Given the description of an element on the screen output the (x, y) to click on. 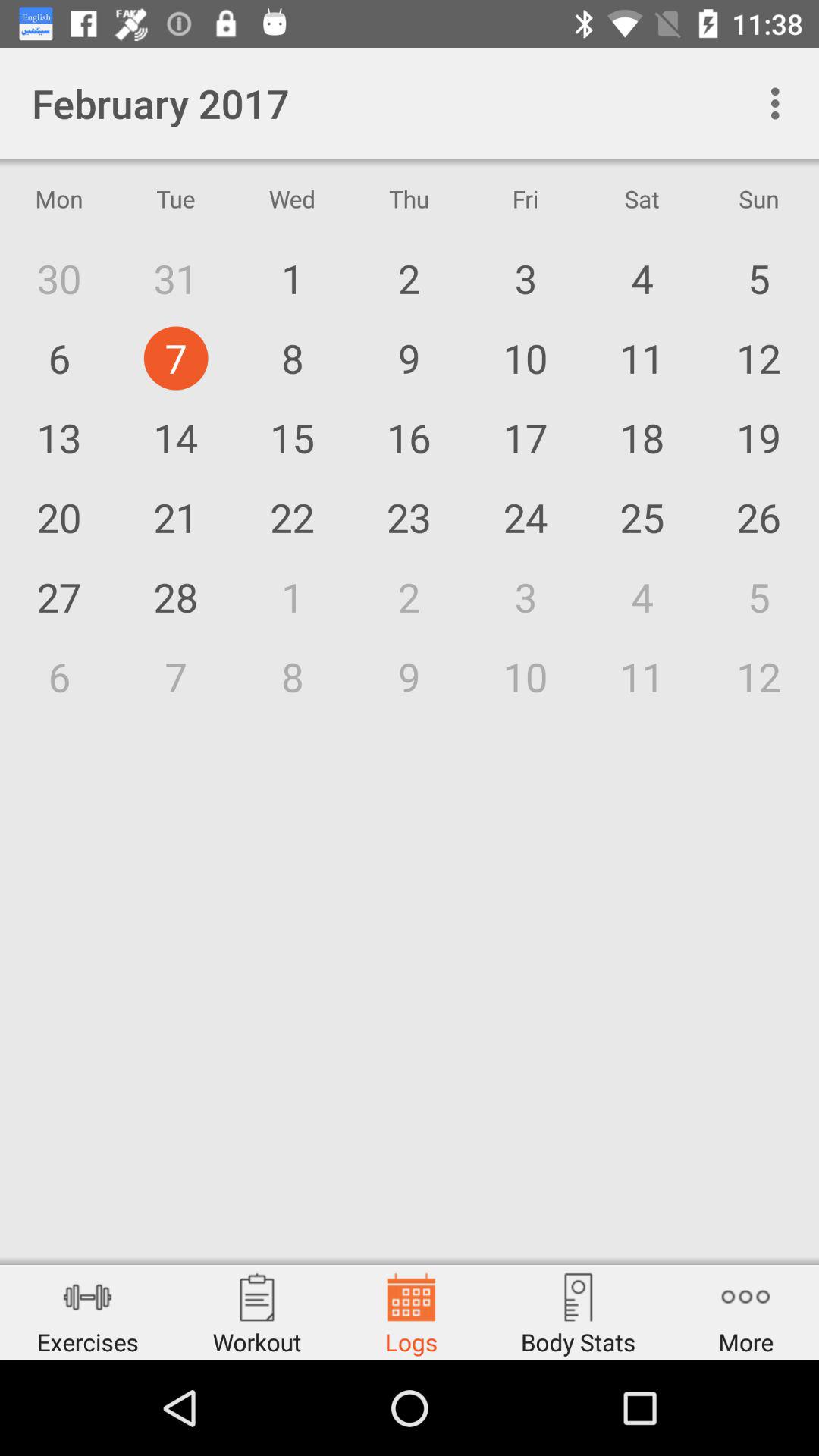
click on 7 (175, 676)
